Given the description of an element on the screen output the (x, y) to click on. 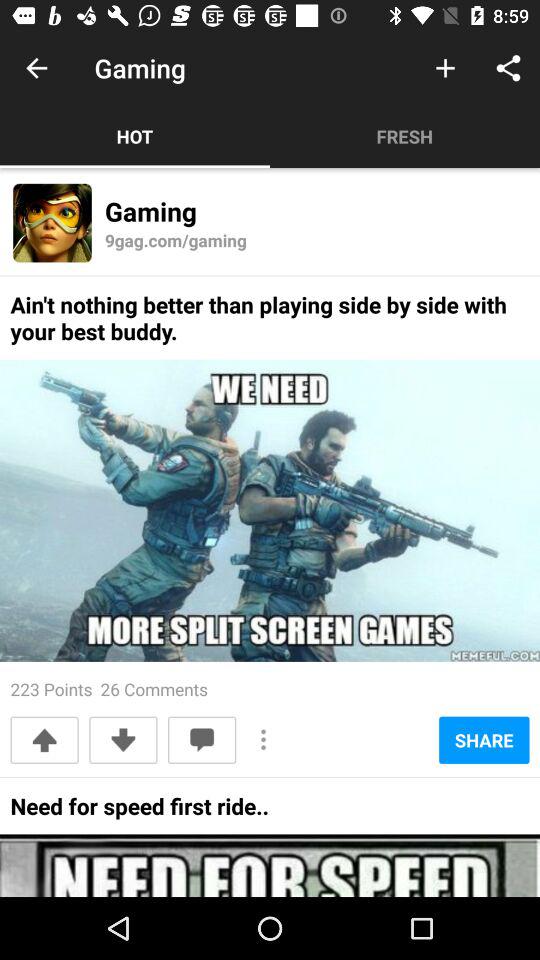
select item next to gaming icon (36, 68)
